Given the description of an element on the screen output the (x, y) to click on. 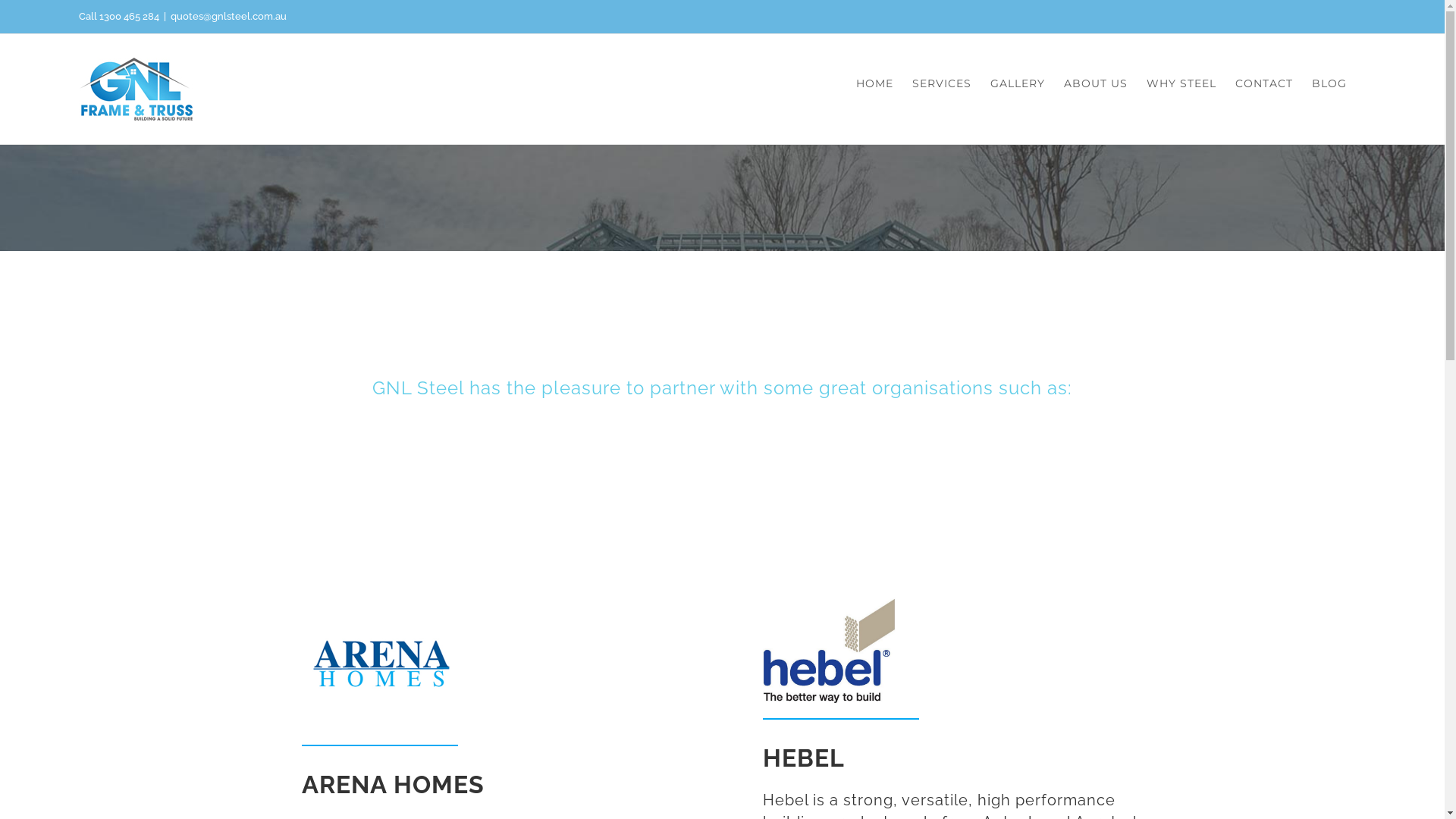
WHY STEEL Element type: text (1181, 83)
CONTACT Element type: text (1263, 83)
quotes@gnlsteel.com.au Element type: text (228, 15)
SERVICES Element type: text (941, 83)
GALLERY Element type: text (1017, 83)
BLOG Element type: text (1328, 83)
arena Element type: hover (381, 663)
HOME Element type: text (874, 83)
Hebel-logo_header Element type: hover (828, 650)
ABOUT US Element type: text (1095, 83)
